Given the description of an element on the screen output the (x, y) to click on. 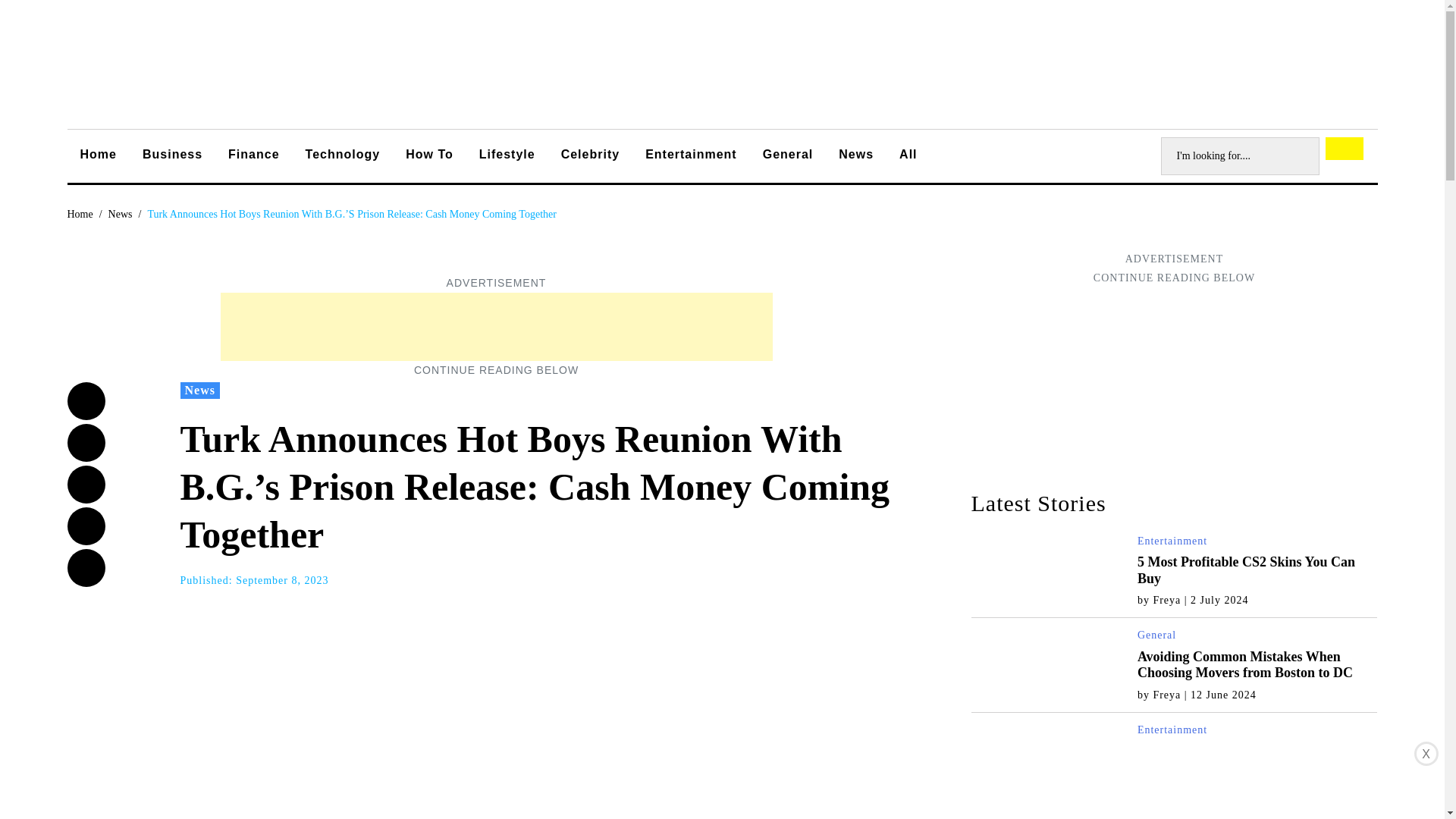
Technology (342, 156)
5 Most Profitable CS2 Skins You Can Buy (1246, 570)
Home (79, 214)
Share on LinkedIn (85, 525)
Twitter (85, 442)
News (119, 214)
Search for: (1239, 156)
Finance (253, 156)
How To (429, 156)
Share on Pinterest (85, 567)
Share on Facebook (85, 401)
Celebrity (589, 156)
Entertainment (1172, 541)
Pinterest (85, 567)
